Given the description of an element on the screen output the (x, y) to click on. 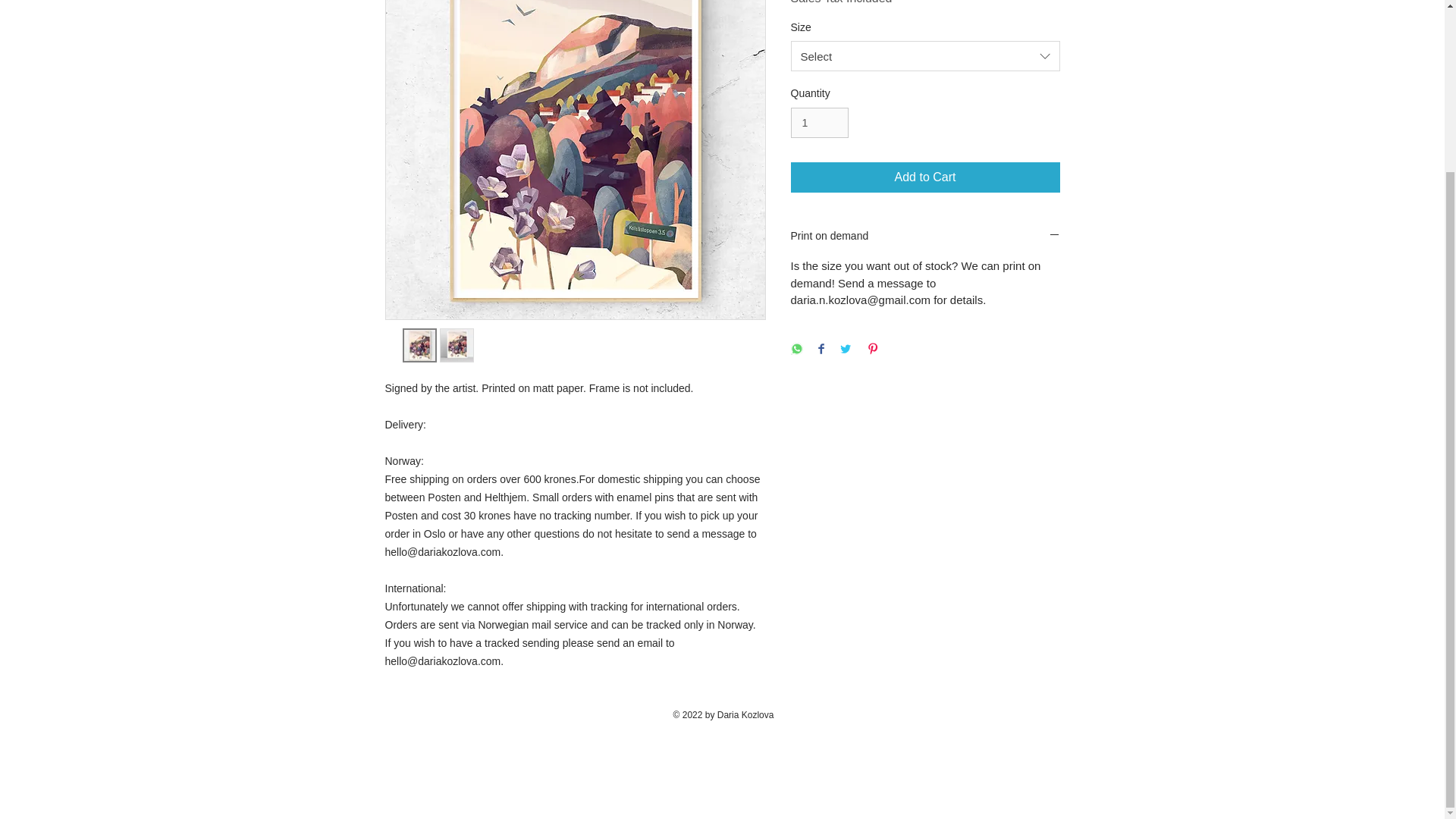
1 (818, 122)
Select (924, 55)
Add to Cart (924, 177)
Print on demand (924, 236)
